Given the description of an element on the screen output the (x, y) to click on. 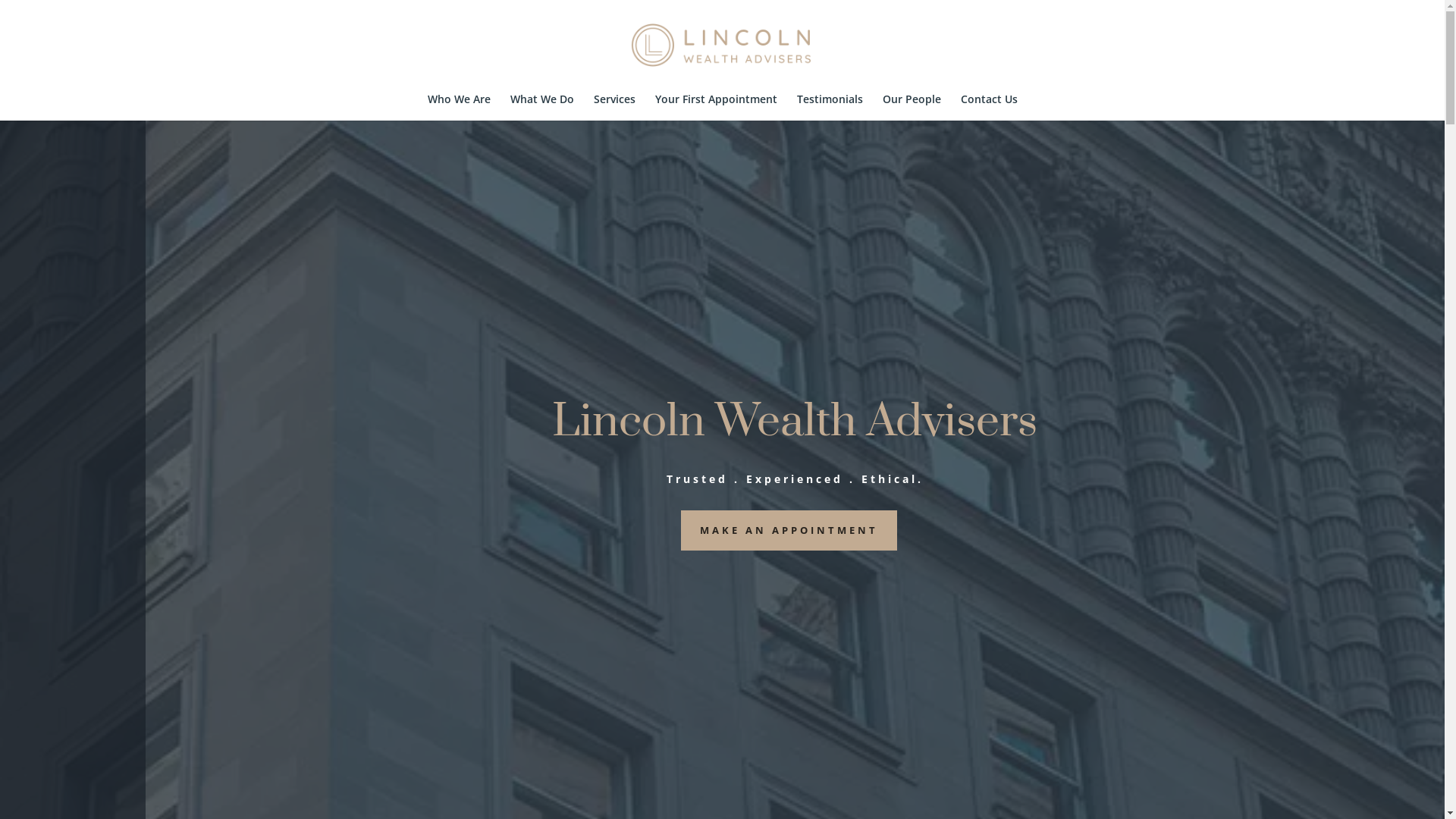
Your First Appointment Element type: text (716, 107)
Who We Are Element type: text (458, 107)
Our People Element type: text (911, 107)
Services Element type: text (613, 107)
What We Do Element type: text (541, 107)
Contact Us Element type: text (988, 107)
Testimonials Element type: text (829, 107)
MAKE AN APPOINTMENT Element type: text (788, 530)
